Given the description of an element on the screen output the (x, y) to click on. 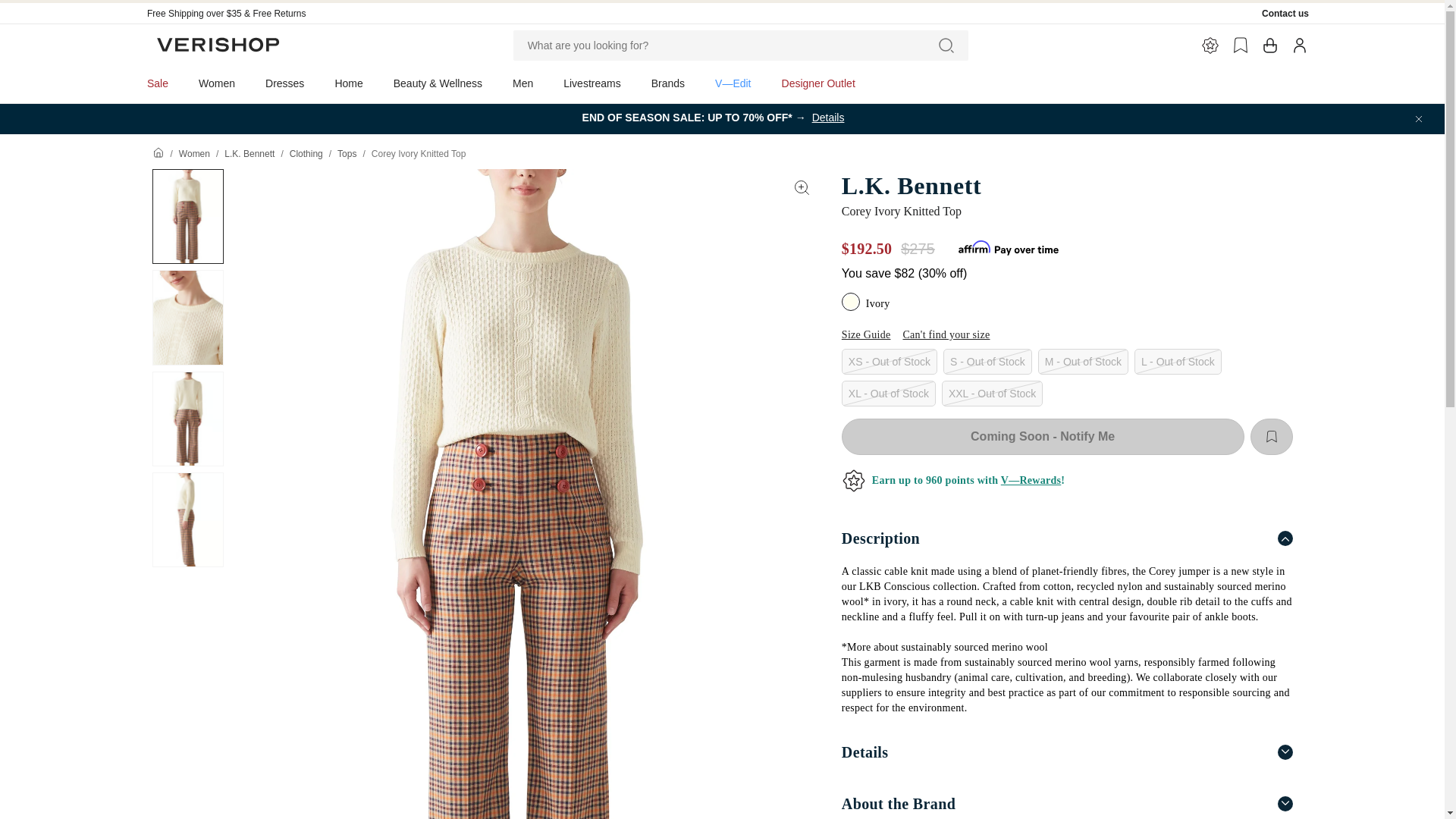
Tops (346, 153)
Women (194, 153)
Free Returns (278, 13)
L.K. Bennett (249, 153)
Ivory (852, 303)
Designer Outlet (818, 82)
Clothing (306, 153)
Brands (668, 82)
Can't find your size (946, 335)
Size Guide (866, 335)
Coming Soon - Notify Me (1042, 436)
Dresses (284, 82)
Contact us (1285, 13)
L.K. Bennett (1066, 185)
Livestreams (591, 82)
